Given the description of an element on the screen output the (x, y) to click on. 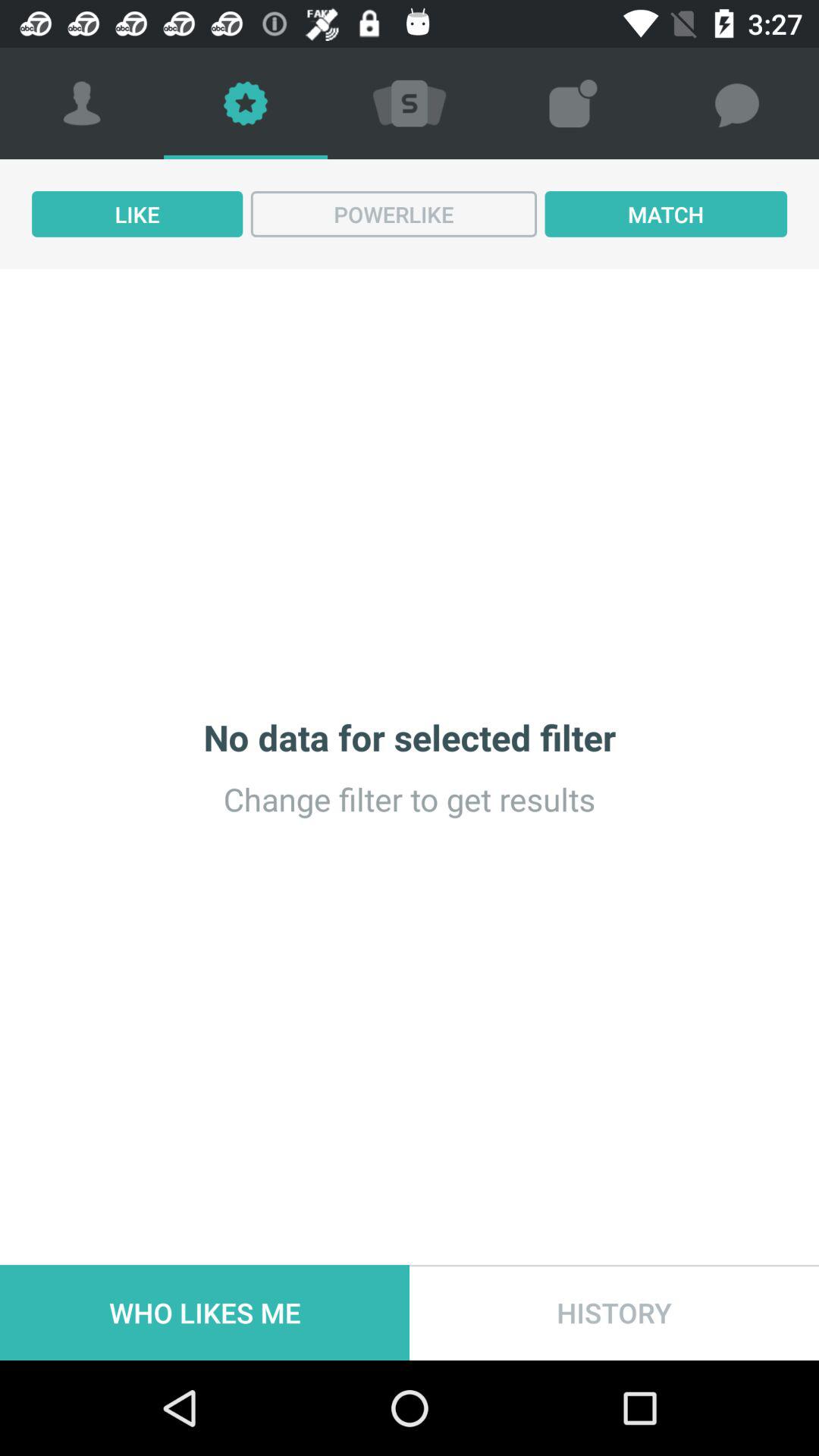
flip until who likes me item (204, 1312)
